Given the description of an element on the screen output the (x, y) to click on. 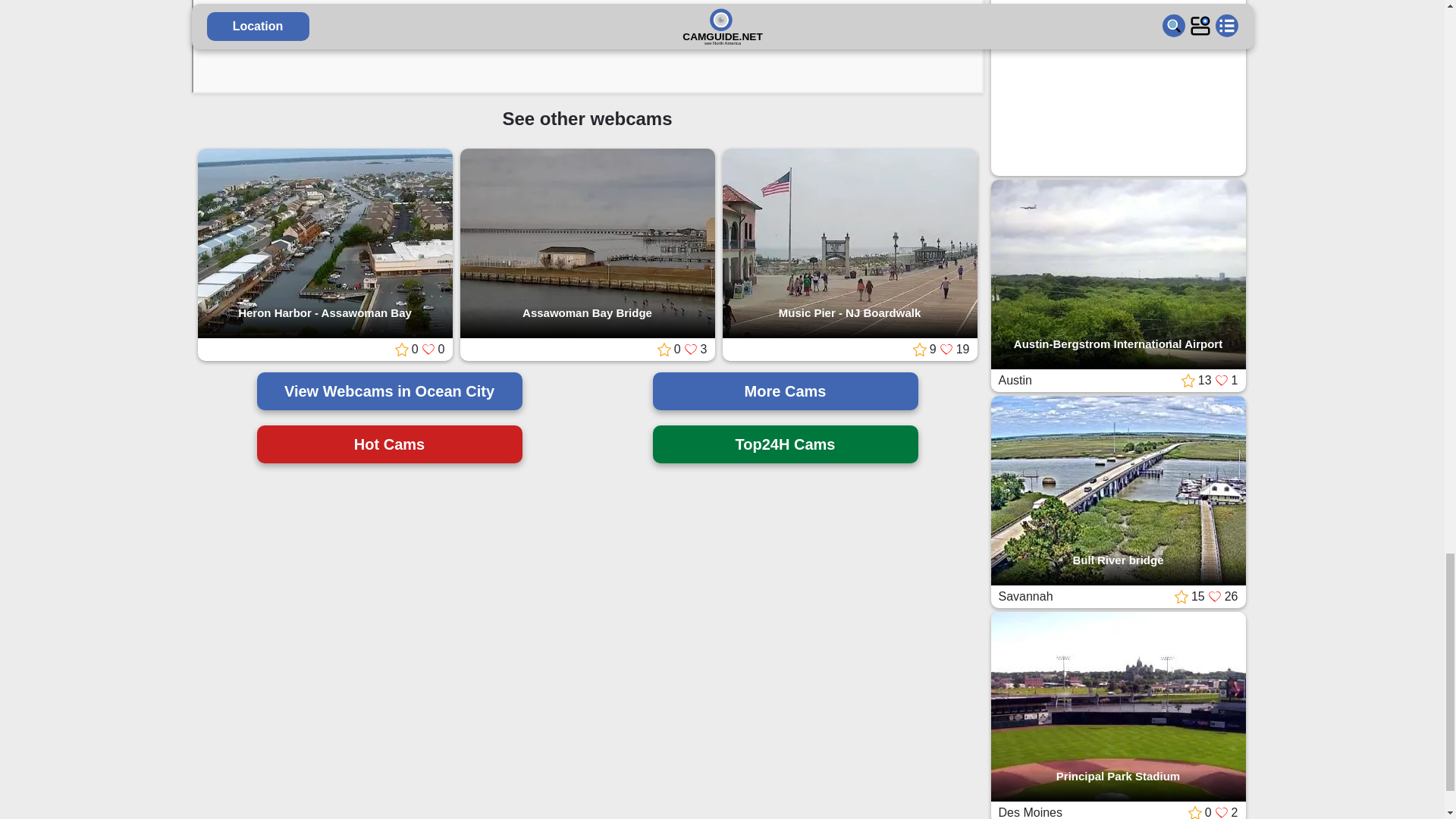
More Cams (784, 391)
Hot Cams (388, 444)
View Webcams in Ocean City (388, 391)
Top24H Cams (784, 444)
See Assawoman Bay Bridge (587, 244)
See Heron Harbor - Assawoman Bay (323, 244)
See Music Pier - NJ Boardwalk (849, 244)
Assawoman Bay Bridge (587, 244)
Heron Harbor - Assawoman Bay (323, 244)
Music Pier - NJ Boardwalk (849, 244)
